Given the description of an element on the screen output the (x, y) to click on. 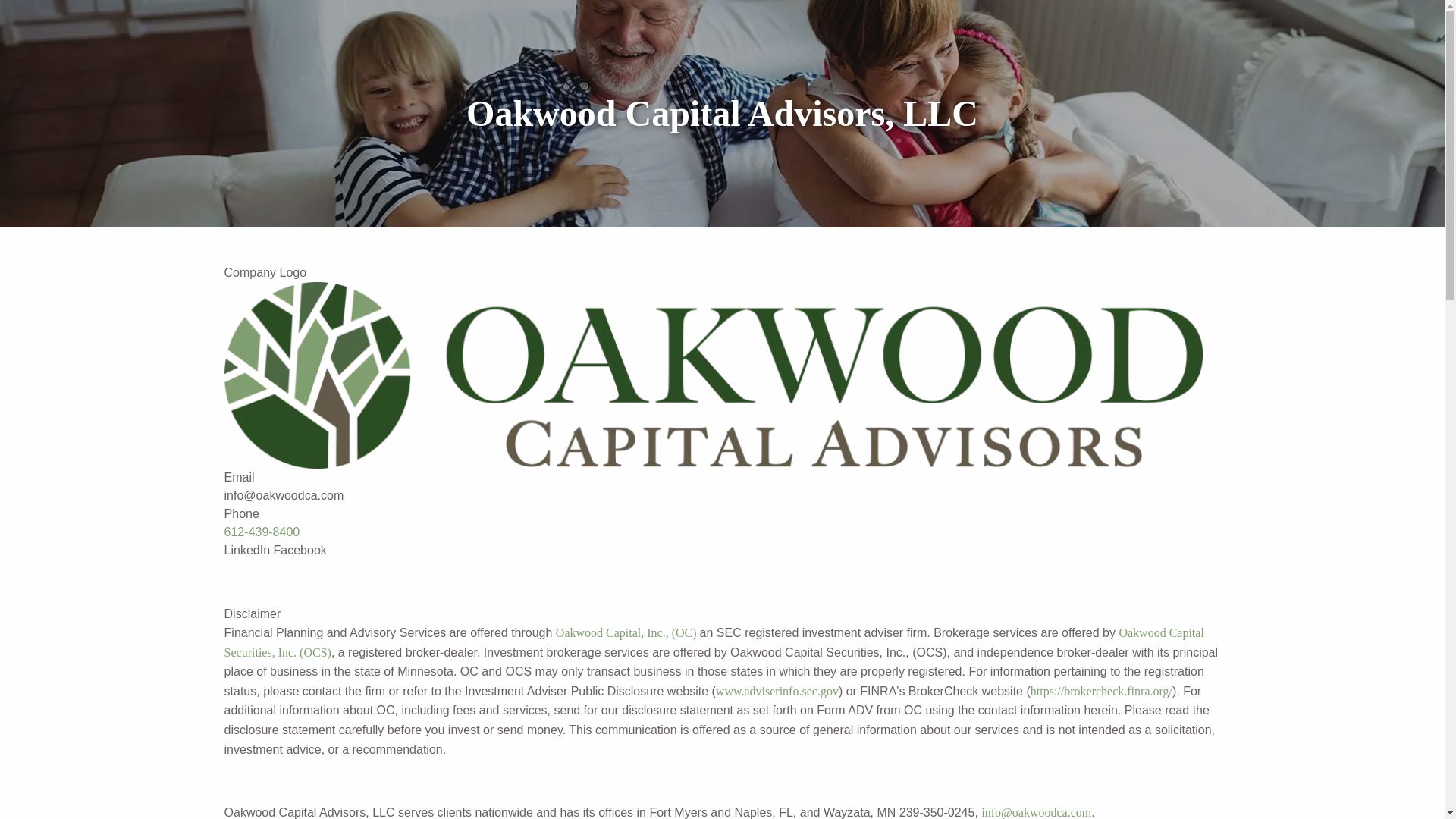
Blogs (1056, 87)
Contact (1115, 87)
Upcoming Events (1174, 52)
www.adviserinfo.sec.gov (777, 690)
Services (1197, 17)
Client Login (1189, 87)
Client Login (1189, 87)
Contact Us (1115, 87)
Home: Oakwood Capital Advisors, LLC (1065, 17)
Upcoming Events (1174, 52)
